Given the description of an element on the screen output the (x, y) to click on. 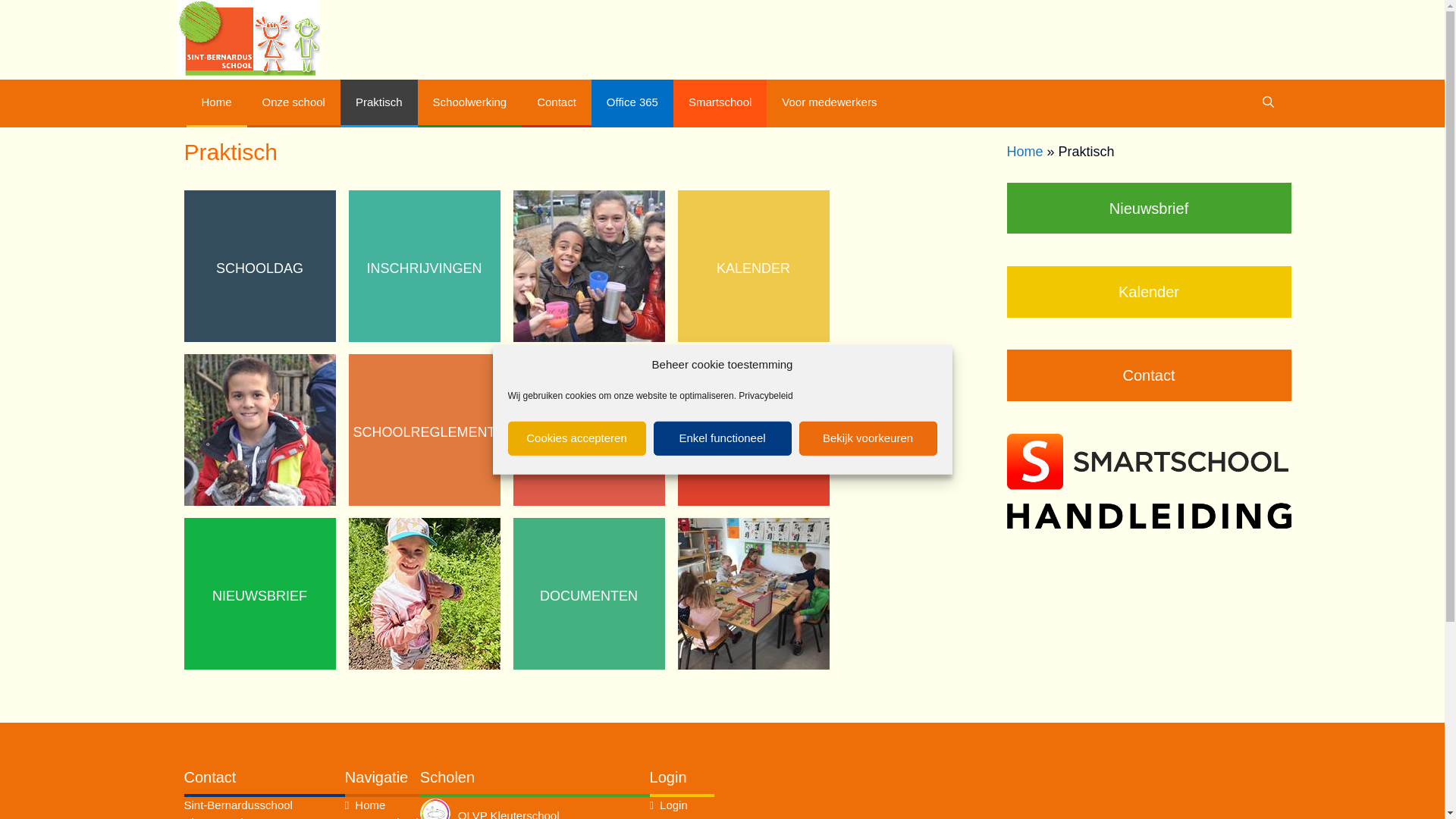
DOCUMENTEN Element type: text (589, 596)
Kalender Element type: text (1149, 291)
SCHOOLREGLEMENT Element type: text (424, 432)
Enkel functioneel Element type: text (722, 437)
Bekijk voorkeuren Element type: text (868, 437)
Cookies accepteren Element type: text (577, 437)
Contact Element type: text (556, 103)
KALENDER Element type: text (753, 268)
Nieuwsbrief Element type: text (1149, 208)
Home Element type: text (369, 804)
Login Element type: text (673, 804)
Office 365 Element type: text (632, 103)
Onze school Element type: text (293, 103)
Smartschool Element type: text (719, 103)
SCHOOLREKENING Element type: text (589, 432)
Bernardusschool Element type: hover (247, 37)
Bernardusschool Element type: hover (247, 36)
VAKANTIEDAGEN Element type: text (753, 432)
Contact Element type: text (1149, 375)
Privacybeleid Element type: text (765, 394)
Home Element type: text (216, 103)
SCHOOLDAG Element type: text (259, 268)
Home Element type: text (1025, 151)
NIEUWSBRIEF Element type: text (259, 596)
Voor medewerkers Element type: text (828, 102)
INSCHRIJVINGEN Element type: text (424, 268)
Praktisch Element type: text (378, 103)
Schoolwerking Element type: text (469, 103)
